Given the description of an element on the screen output the (x, y) to click on. 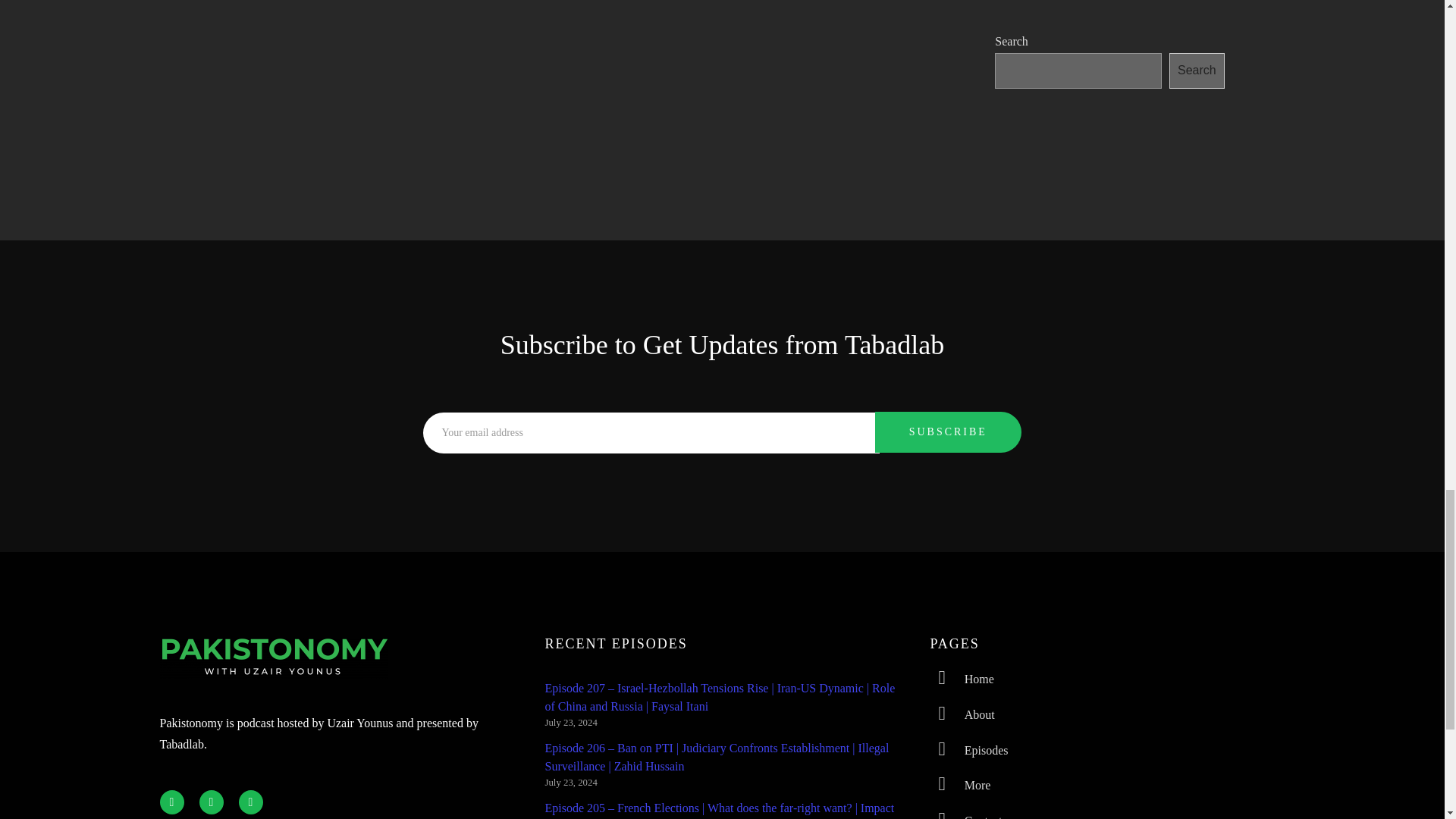
Search (1196, 70)
Subscribe (948, 431)
More (1107, 785)
Subscribe to Get Updates from Tabadlab (722, 345)
Contact (1107, 814)
Home (1107, 679)
Episodes (1107, 750)
Pakistonomy Logo White-01 (272, 656)
About (1107, 715)
Subscribe (948, 431)
